Given the description of an element on the screen output the (x, y) to click on. 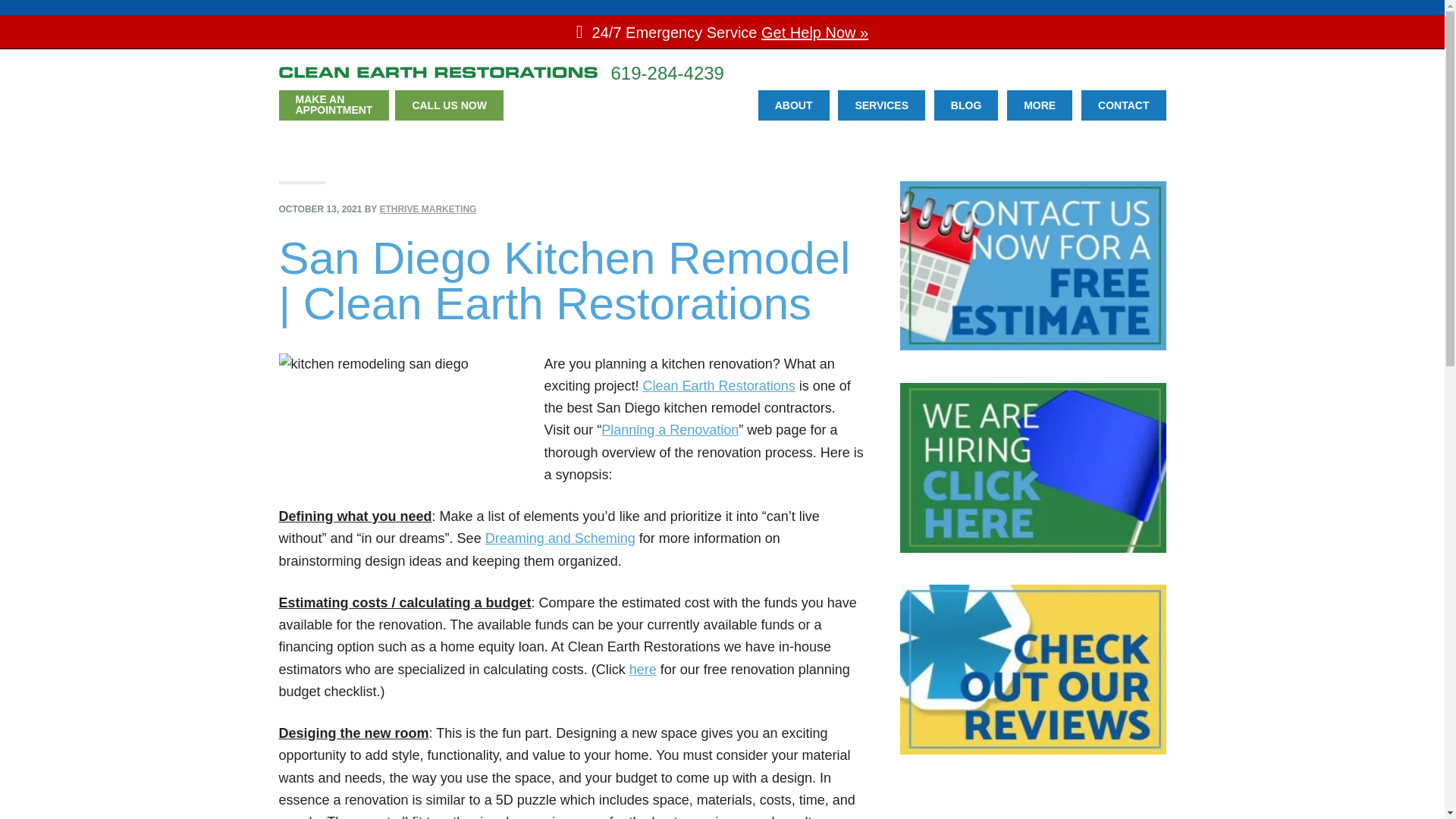
Dreaming and Scheming (559, 538)
Planning a Renovation (334, 105)
here (669, 429)
Planning a Renovation (642, 668)
ABOUT (669, 429)
MORE (793, 105)
619-284-4239 (1039, 105)
SERVICES (667, 73)
Skip to primary navigation (881, 105)
